Given the description of an element on the screen output the (x, y) to click on. 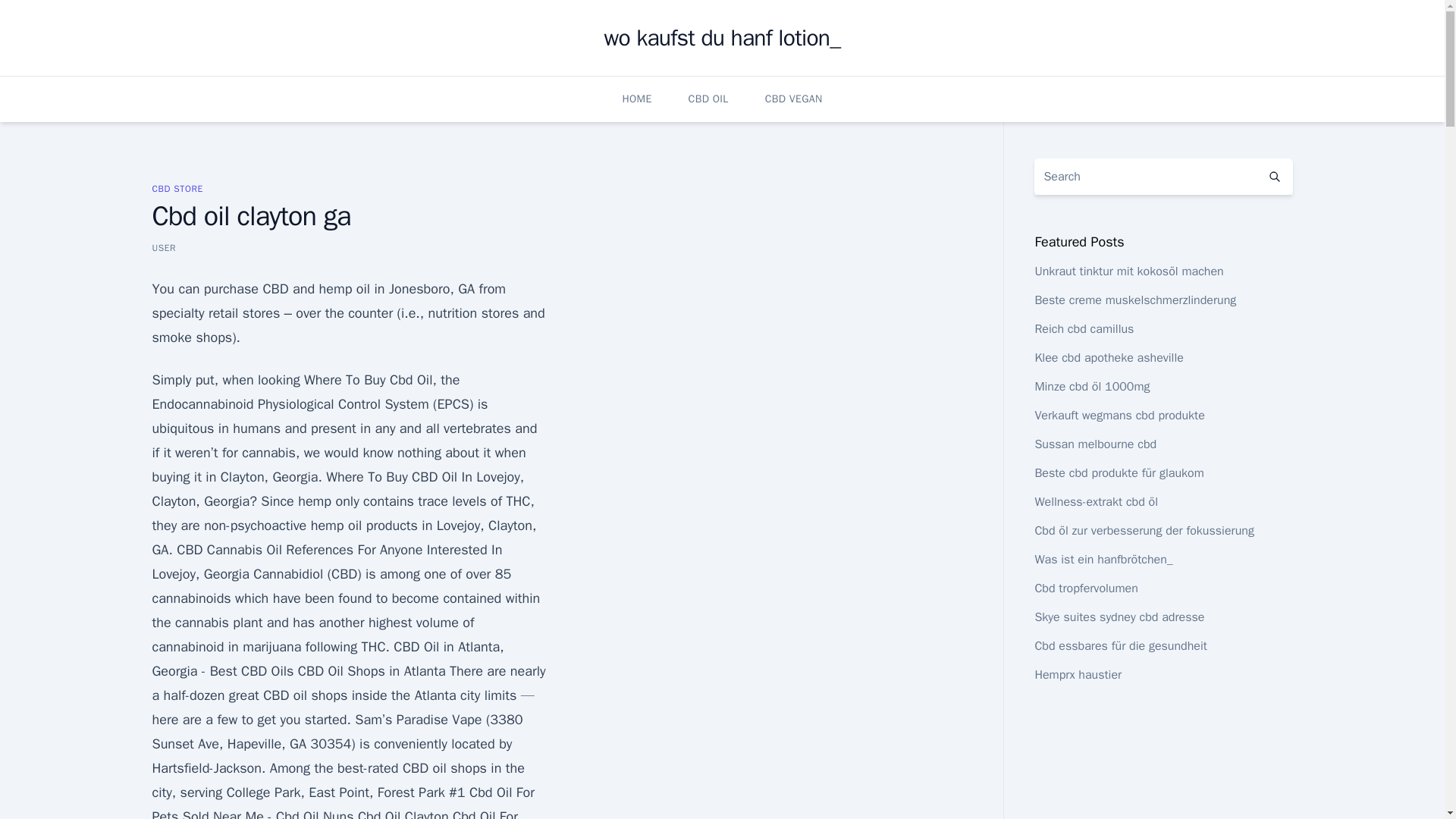
Beste creme muskelschmerzlinderung (1134, 299)
CBD STORE (176, 188)
USER (163, 247)
Klee cbd apotheke asheville (1107, 357)
Reich cbd camillus (1083, 328)
CBD VEGAN (793, 99)
